Given the description of an element on the screen output the (x, y) to click on. 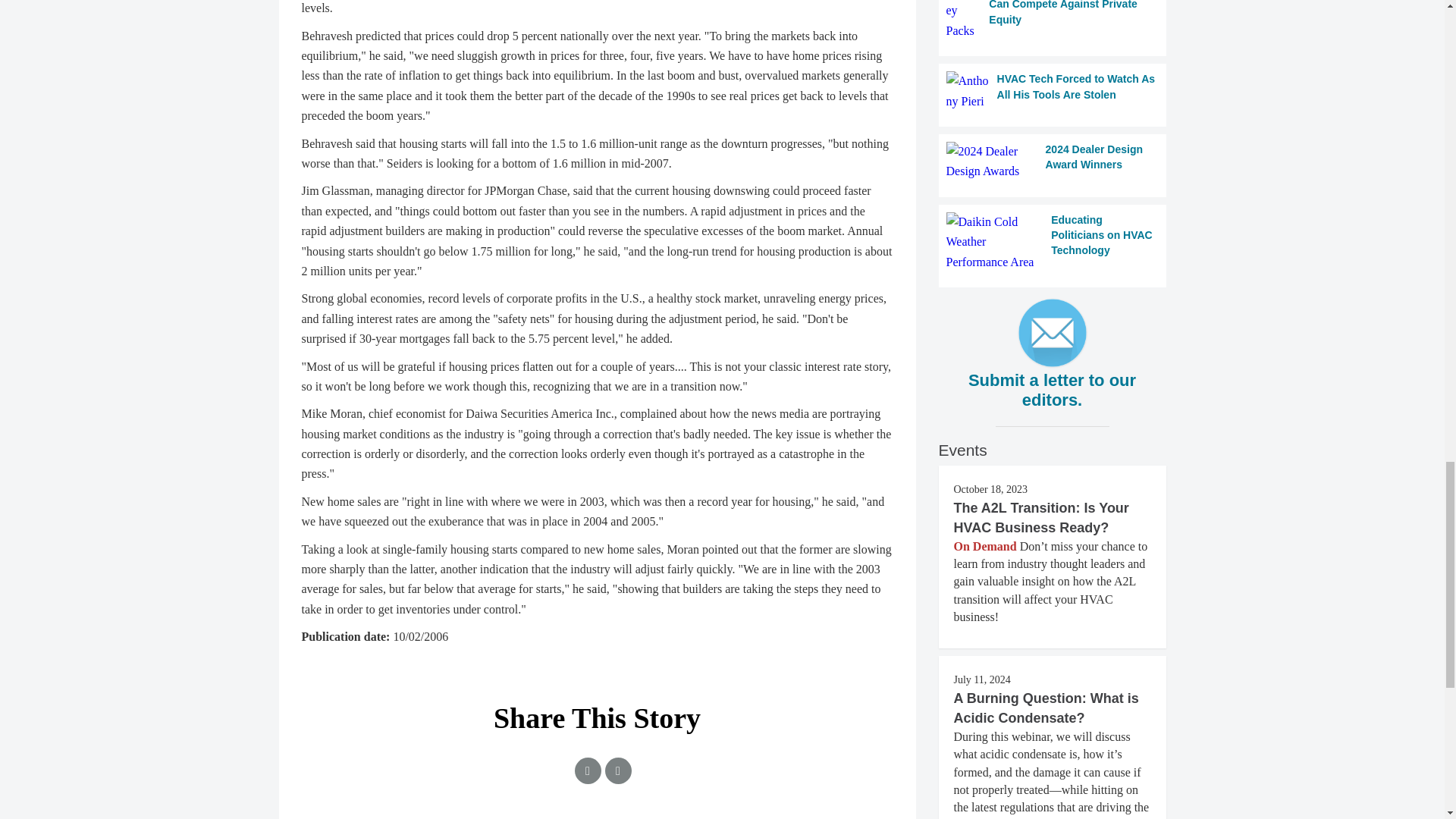
Educating Politicians on HVAC Technology (1052, 241)
HVAC Tech Forced to Watch As All His Tools Are Stolen (1052, 91)
A Burning Question: What is Acidic Condensate? (1045, 708)
2024 Dealer Design Award Winners (1052, 161)
The A2L Transition: Is Your HVAC Business Ready? (1041, 517)
